Given the description of an element on the screen output the (x, y) to click on. 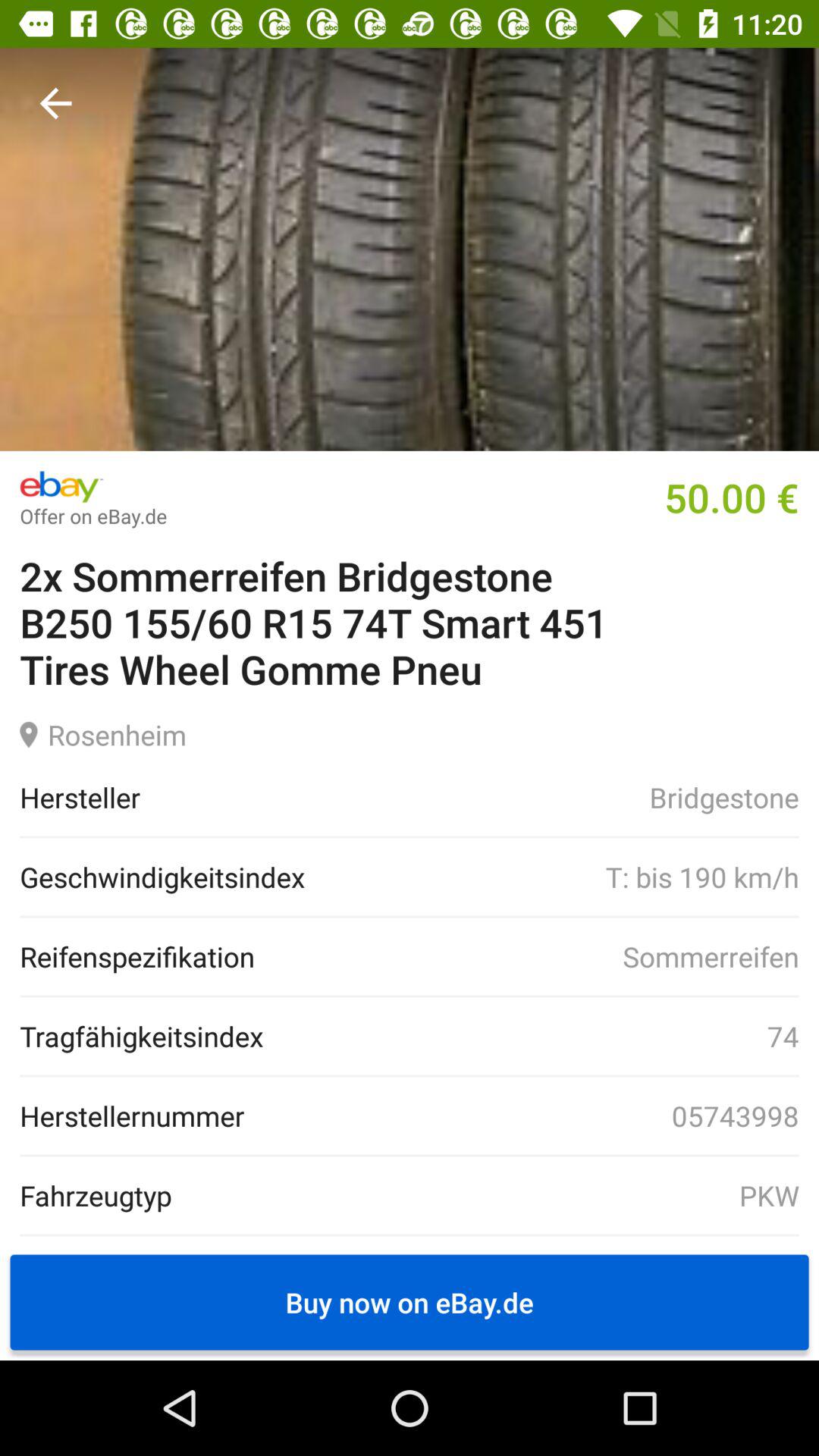
turn on the icon to the right of fahrzeugtyp icon (485, 1195)
